Given the description of an element on the screen output the (x, y) to click on. 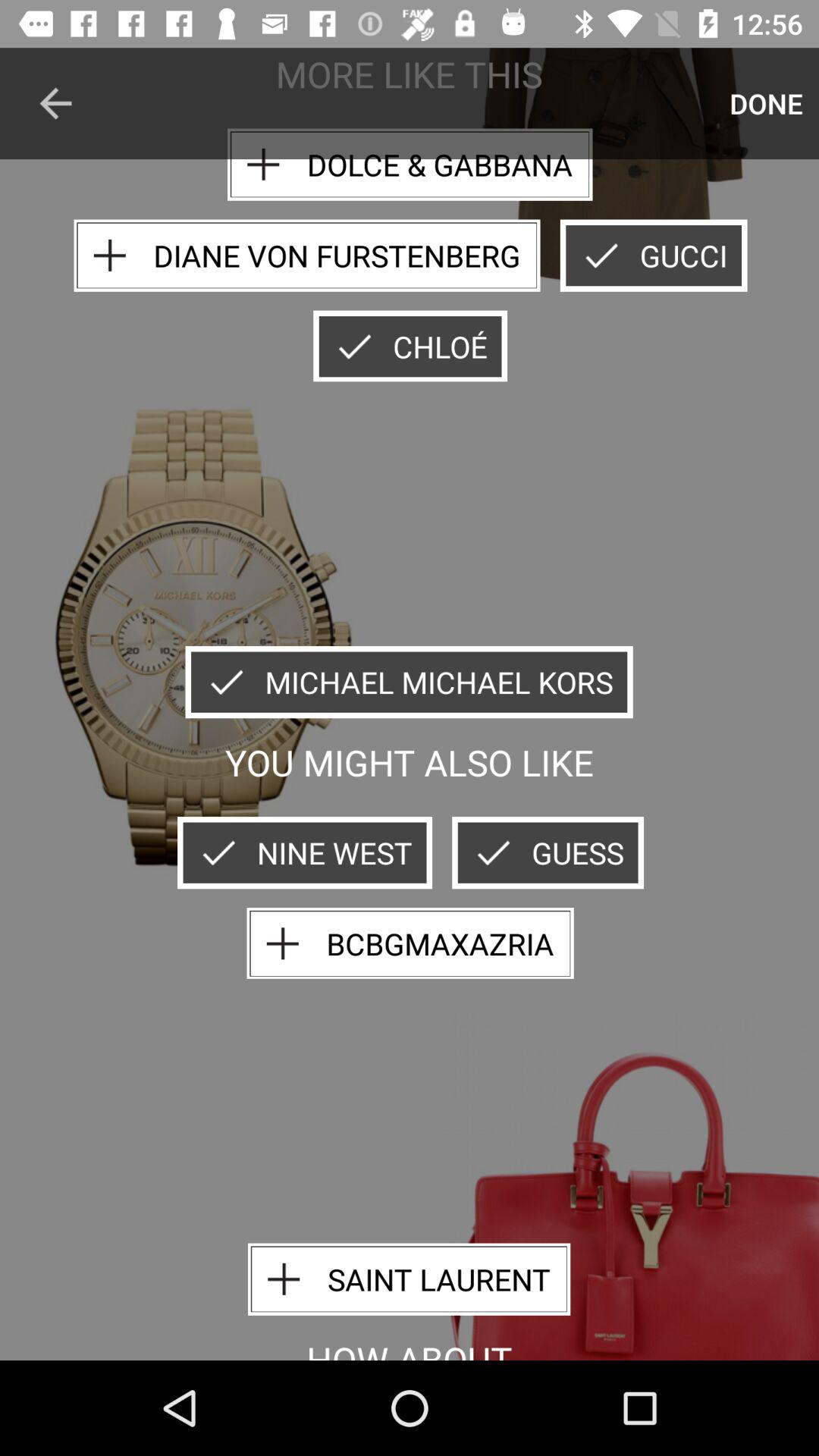
click item below you might also (304, 852)
